Given the description of an element on the screen output the (x, y) to click on. 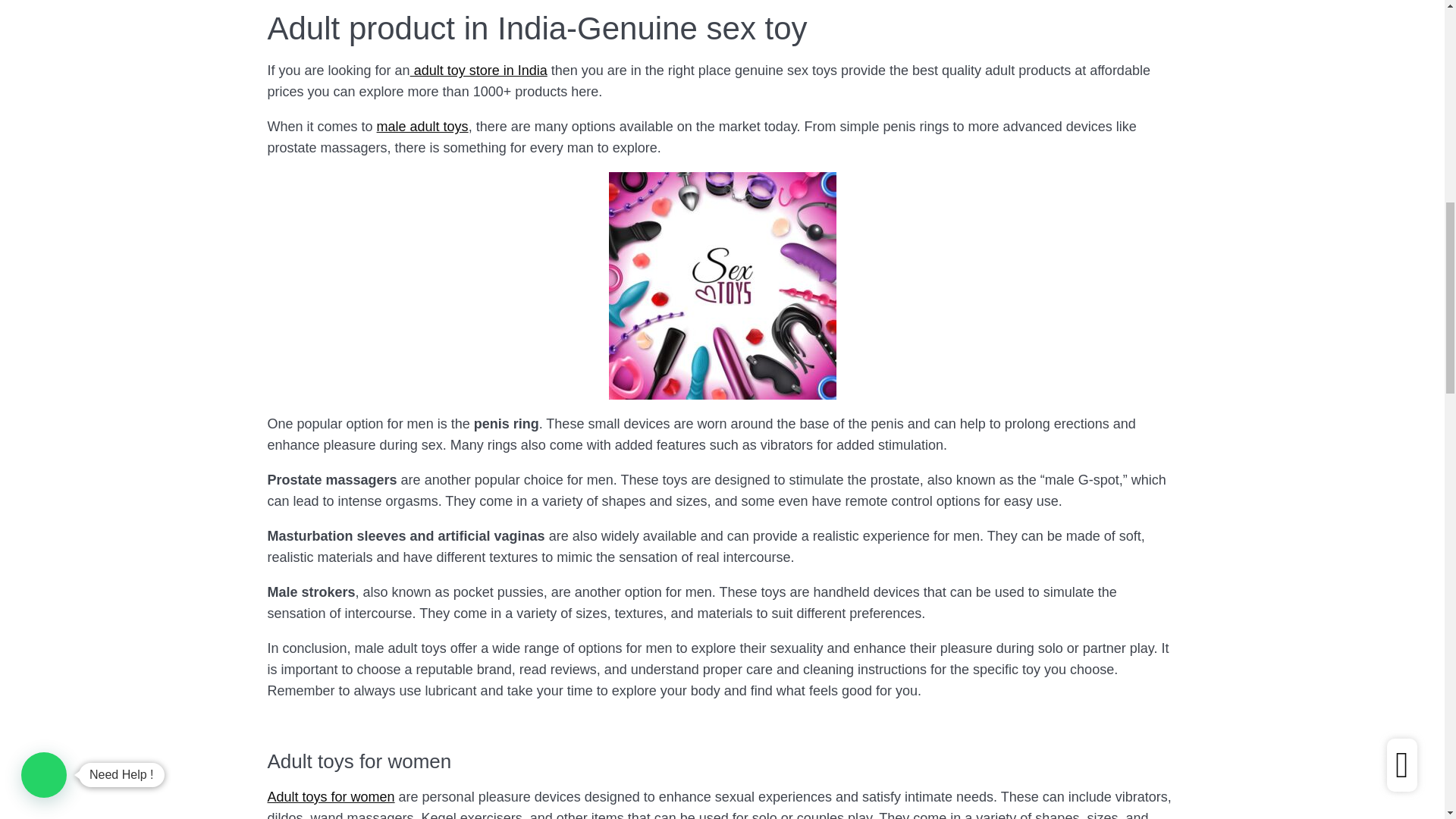
Best sex toy store in India (721, 285)
